Given the description of an element on the screen output the (x, y) to click on. 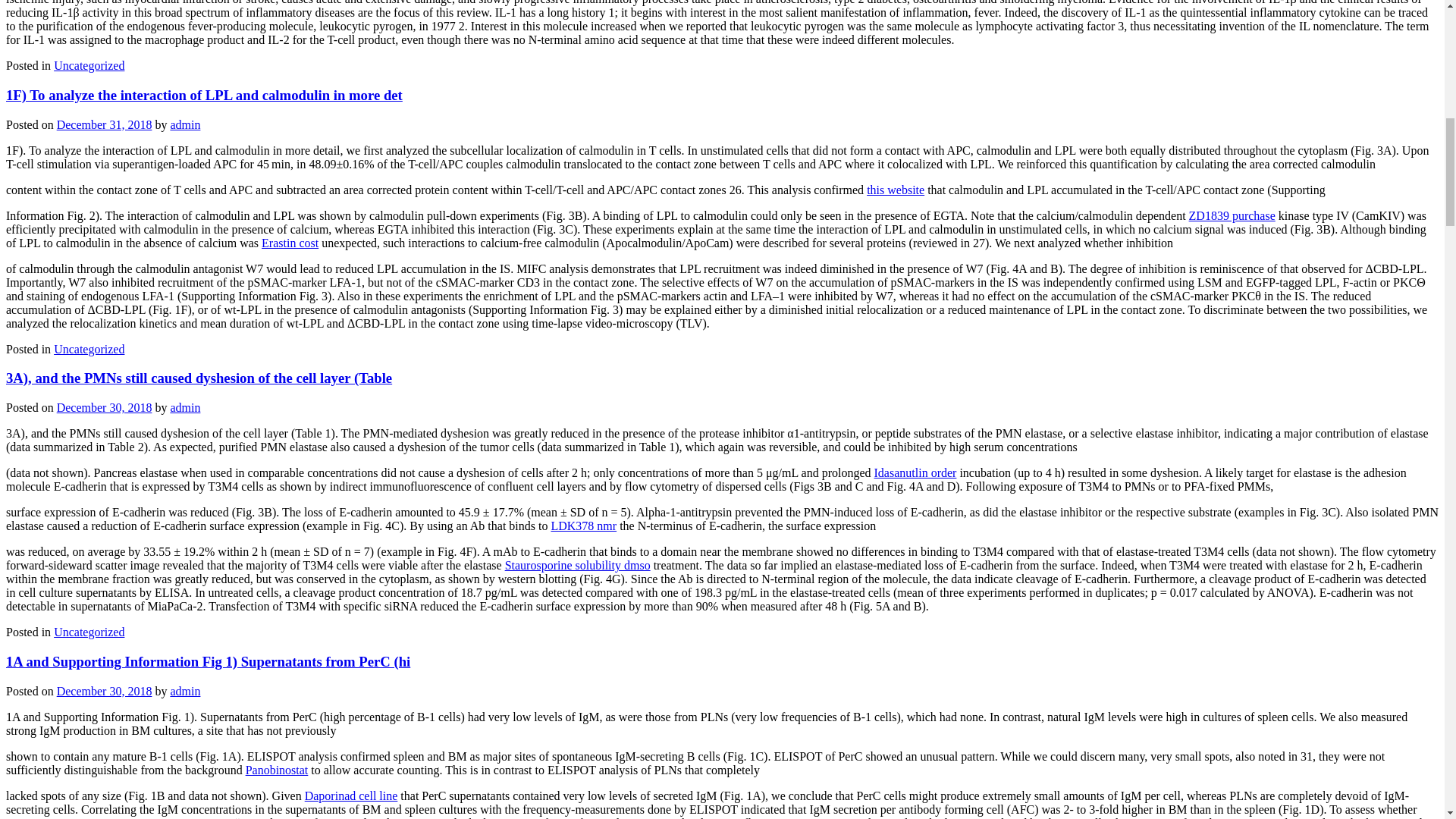
View all posts by admin (185, 124)
10:54 am (104, 407)
Panobinostat (277, 768)
admin (185, 689)
admin (185, 124)
Daporinad cell line (350, 794)
Staurosporine solubility dmso (577, 564)
LDK378 nmr (582, 525)
December 30, 2018 (104, 689)
View all posts in Uncategorized (88, 65)
Idasanutlin order (915, 472)
Uncategorized (88, 631)
December 30, 2018 (104, 407)
View all posts by admin (185, 407)
this website (895, 189)
